Given the description of an element on the screen output the (x, y) to click on. 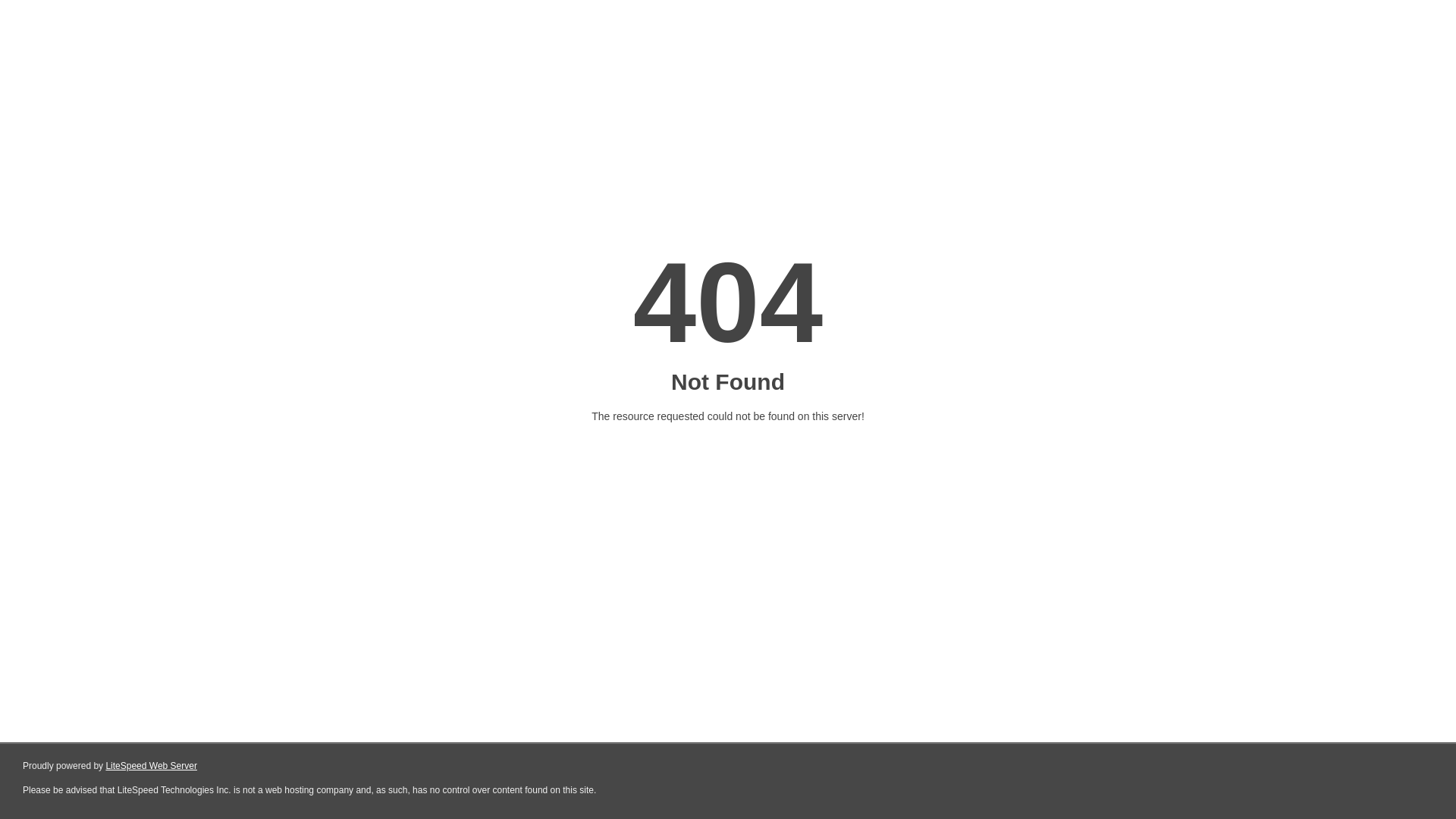
LiteSpeed Web Server Element type: text (151, 765)
